Given the description of an element on the screen output the (x, y) to click on. 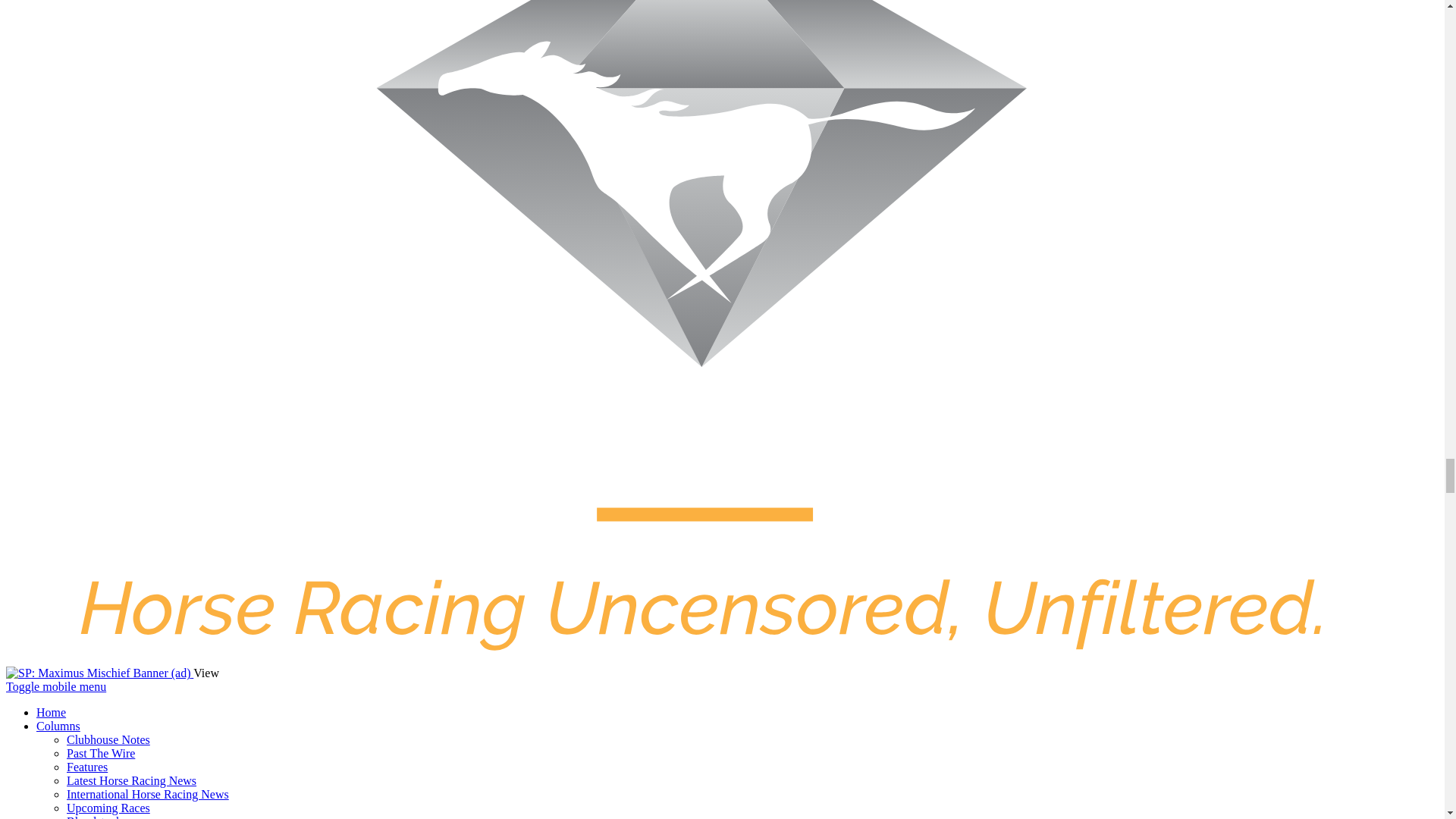
Home (50, 712)
